Given the description of an element on the screen output the (x, y) to click on. 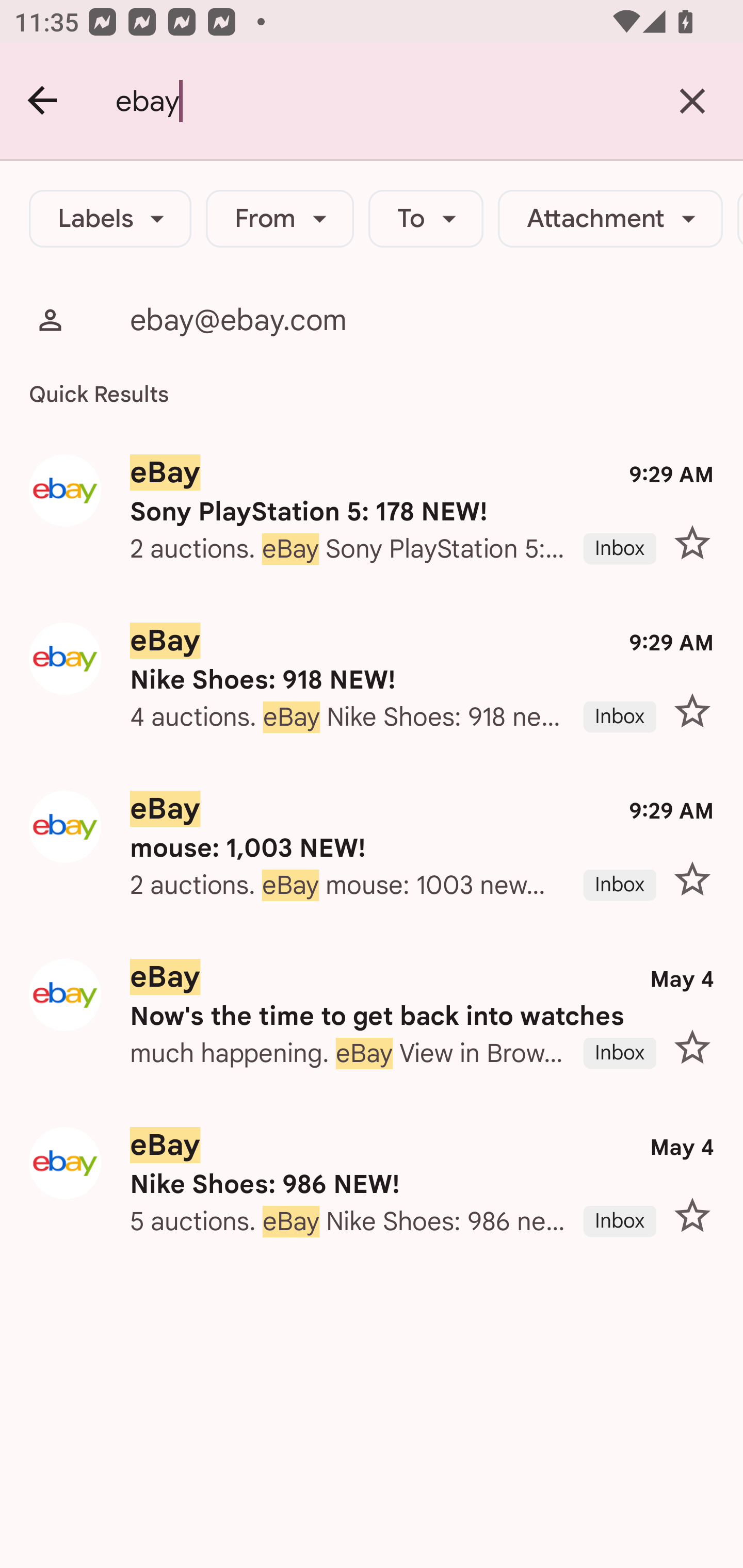
Back (43, 101)
ebay (378, 101)
Clear text (692, 101)
Labels (109, 218)
From (279, 218)
To (425, 218)
Attachment (609, 218)
ebay@ebay.com Suggestion: ebay@ebay.com (371, 319)
